Given the description of an element on the screen output the (x, y) to click on. 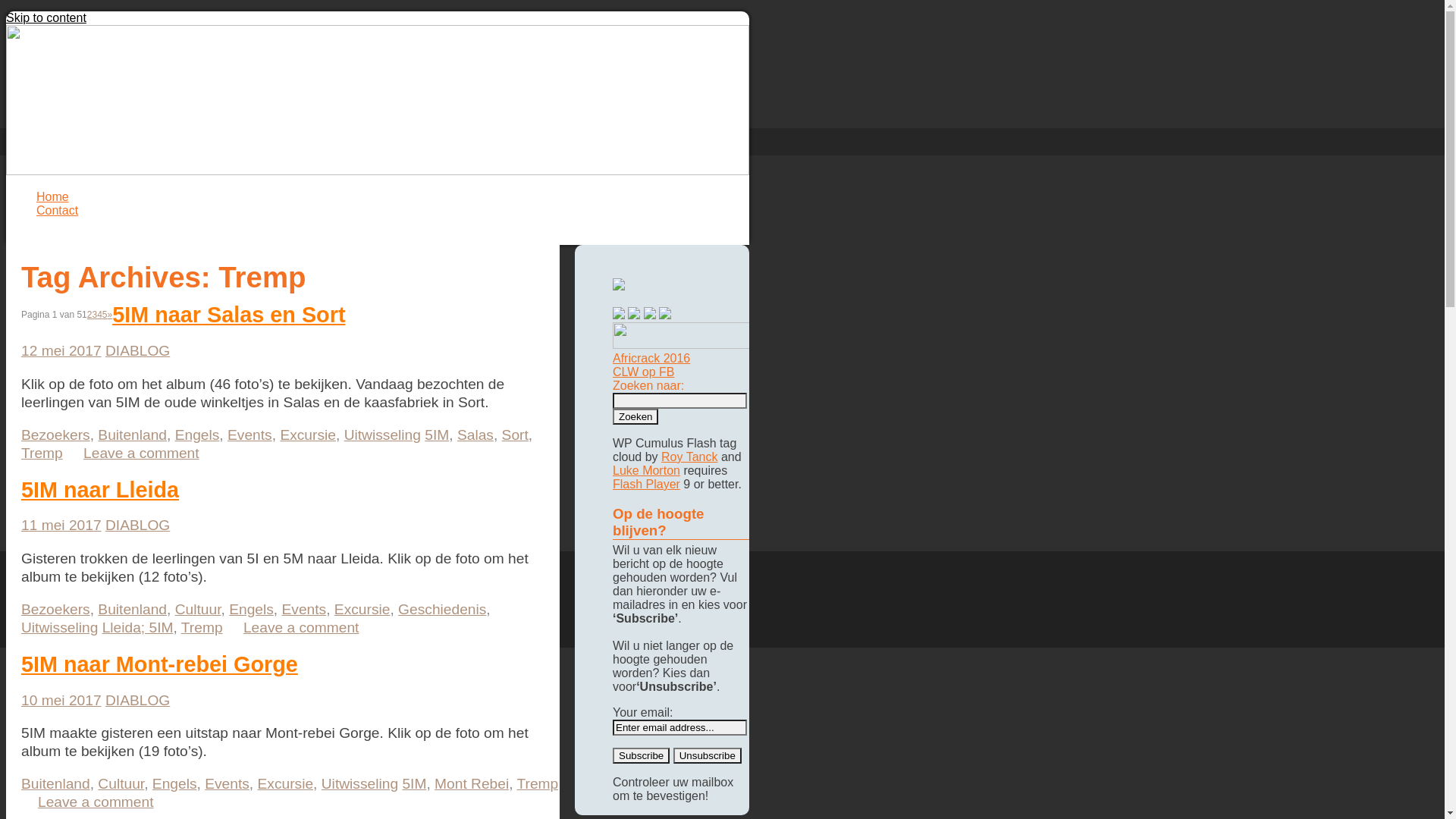
Roy Tanck Element type: text (689, 456)
Geschiedenis Element type: text (442, 609)
Bezoekers Element type: text (55, 609)
Uitwisseling Element type: text (59, 627)
Sort Element type: text (515, 434)
Buitenland Element type: text (131, 434)
Mont Rebei Element type: text (471, 783)
Cultuur Element type: text (120, 783)
Skip to content Element type: text (46, 17)
11 mei 2017 Element type: text (61, 525)
Buitenland Element type: text (55, 783)
5IM naar Mont-rebei Gorge Element type: text (159, 664)
Unsubscribe Element type: text (707, 755)
Africrack 2016 Element type: text (651, 357)
DIABLOG Element type: text (137, 700)
Uitwisseling Element type: text (359, 783)
3 Element type: text (94, 314)
Tremp Element type: text (201, 627)
Luke Morton Element type: text (646, 470)
Flash Player Element type: text (646, 483)
DIABLOG Element type: text (137, 350)
DIABLOG Element type: text (137, 525)
Engels Element type: text (174, 783)
5IM naar Salas en Sort Element type: text (228, 314)
Leave a comment Element type: text (292, 627)
Tremp Element type: text (41, 453)
2 Element type: text (89, 314)
Engels Element type: text (251, 609)
Leave a comment Element type: text (132, 452)
5IM naar Lleida Element type: text (99, 489)
Zoeken Element type: text (635, 416)
Engels Element type: text (197, 434)
Events Element type: text (304, 609)
4 Element type: text (99, 314)
Lleida; 5IM Element type: text (137, 627)
Buitenland Element type: text (131, 609)
Events Element type: text (226, 783)
10 mei 2017 Element type: text (61, 700)
Excursie Element type: text (285, 783)
Events Element type: text (249, 434)
Excursie Element type: text (307, 434)
Excursie Element type: text (362, 609)
CLW op FB Element type: text (643, 371)
Subscribe Element type: text (640, 755)
Home Element type: text (52, 196)
5 Element type: text (104, 314)
Salas Element type: text (475, 434)
5IM Element type: text (413, 783)
Uitwisseling Element type: text (382, 434)
12 mei 2017 Element type: text (61, 350)
Leave a comment Element type: text (87, 801)
Contact Element type: text (57, 209)
5IM Element type: text (436, 434)
Cultuur Element type: text (198, 609)
Bezoekers Element type: text (55, 434)
Tremp Element type: text (537, 783)
